Given the description of an element on the screen output the (x, y) to click on. 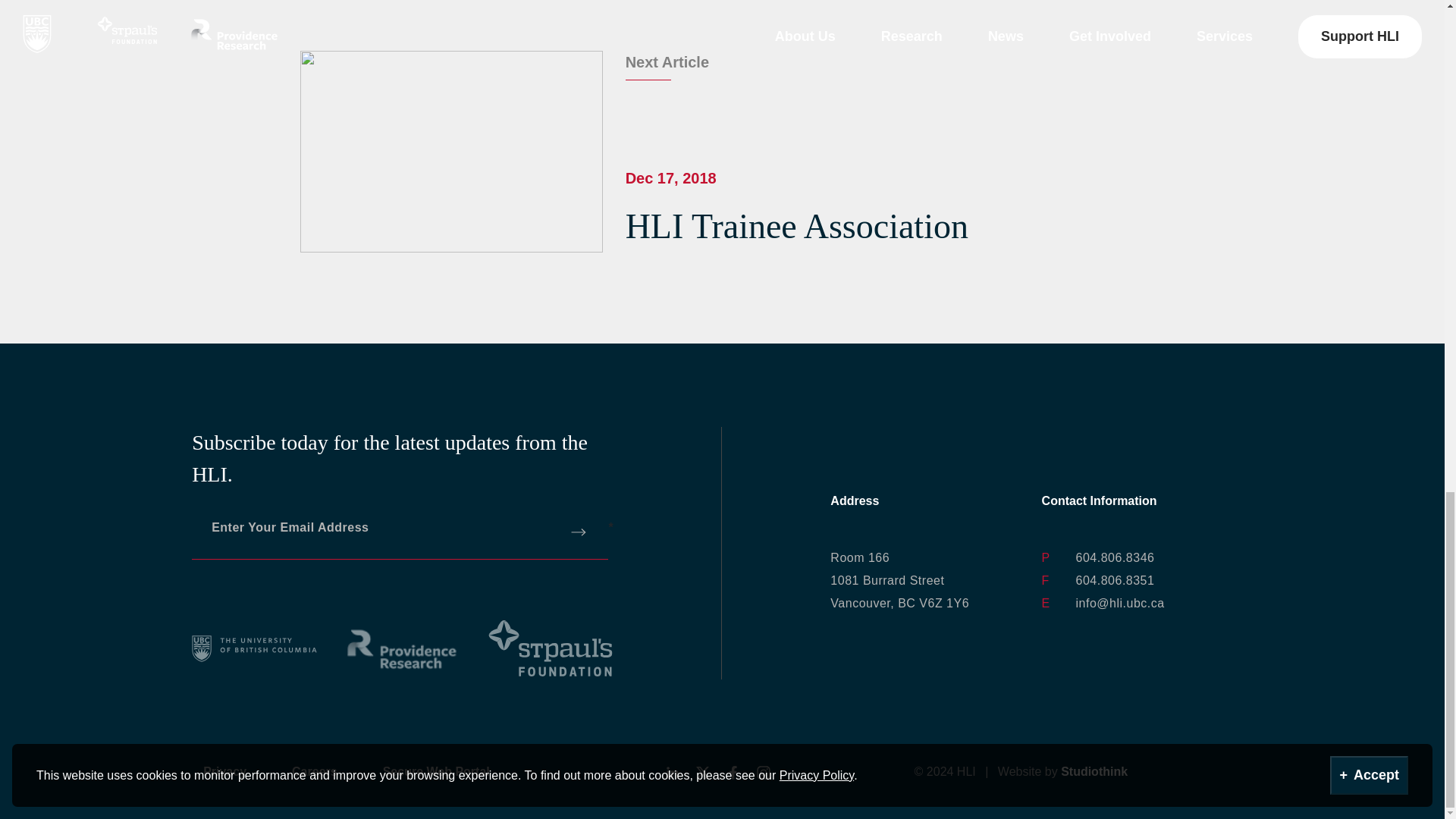
Submit (578, 531)
604.806.8346 (899, 580)
